Given the description of an element on the screen output the (x, y) to click on. 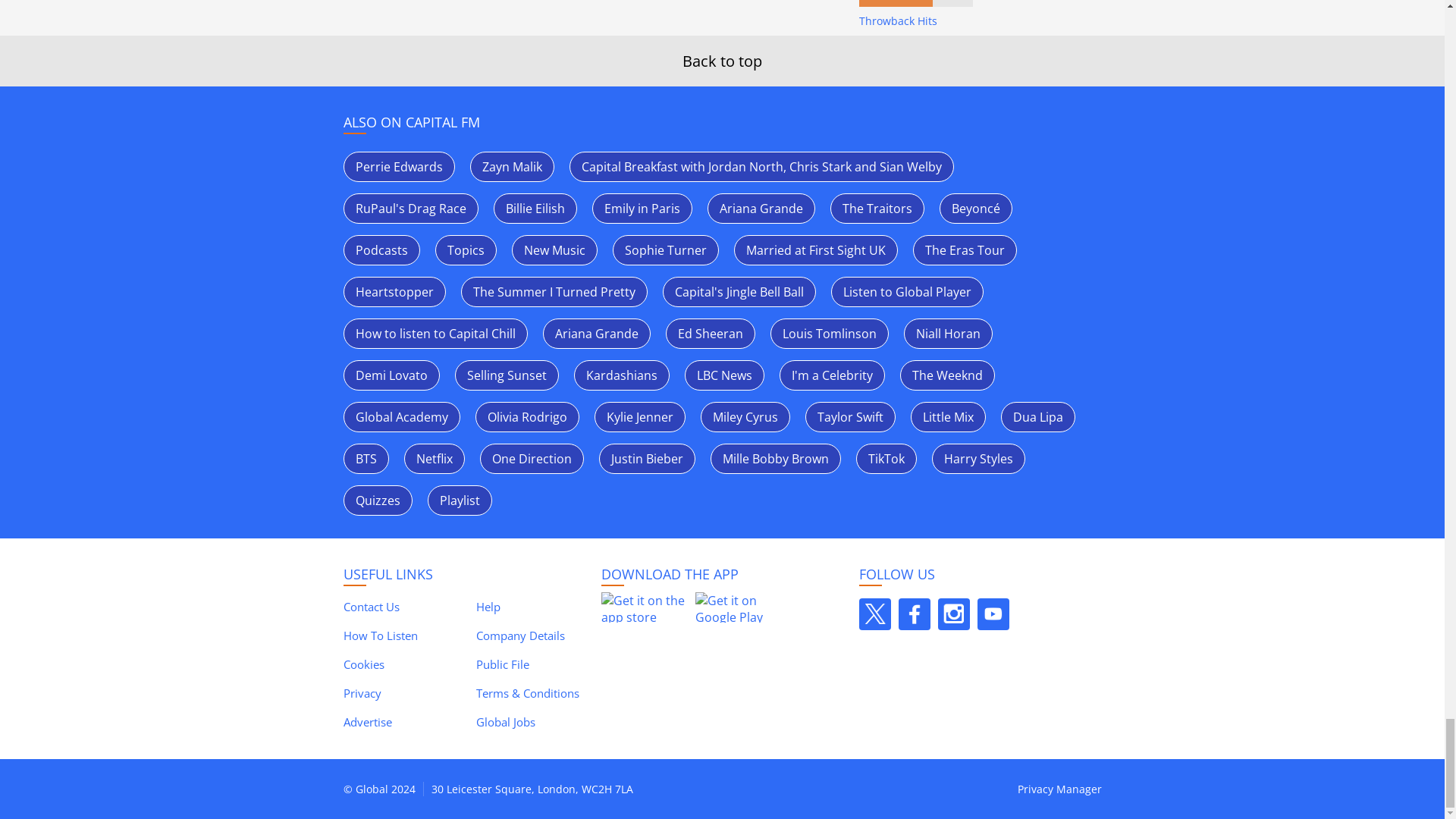
Follow Capital on Instagram (953, 613)
Follow Capital on Facebook (914, 613)
Follow Capital on Youtube (992, 613)
Follow Capital on X (874, 613)
Back to top (721, 60)
